Given the description of an element on the screen output the (x, y) to click on. 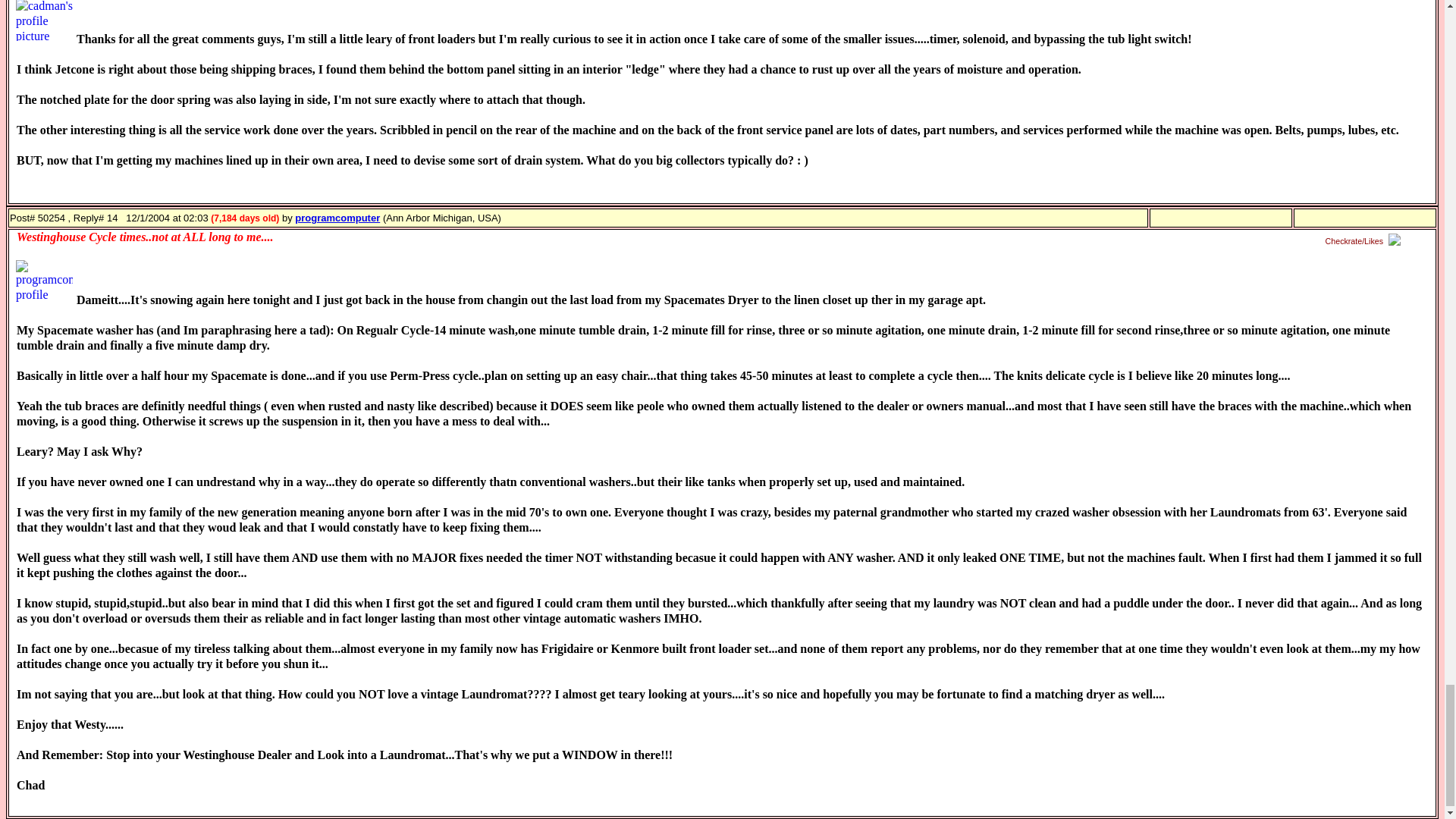
You must be logged in to checkrate posts (1364, 241)
